Given the description of an element on the screen output the (x, y) to click on. 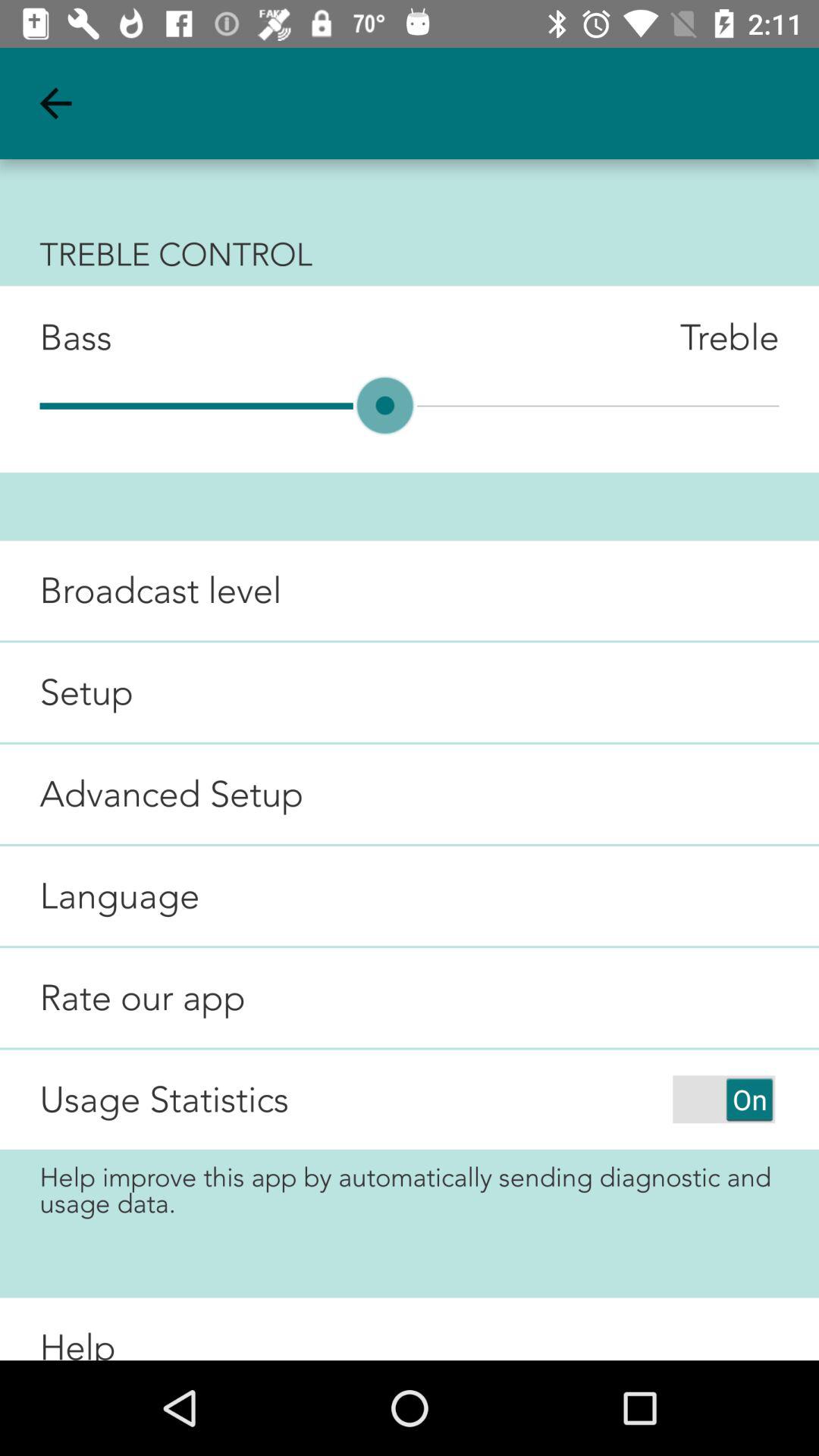
choose the item below treble control (56, 337)
